Given the description of an element on the screen output the (x, y) to click on. 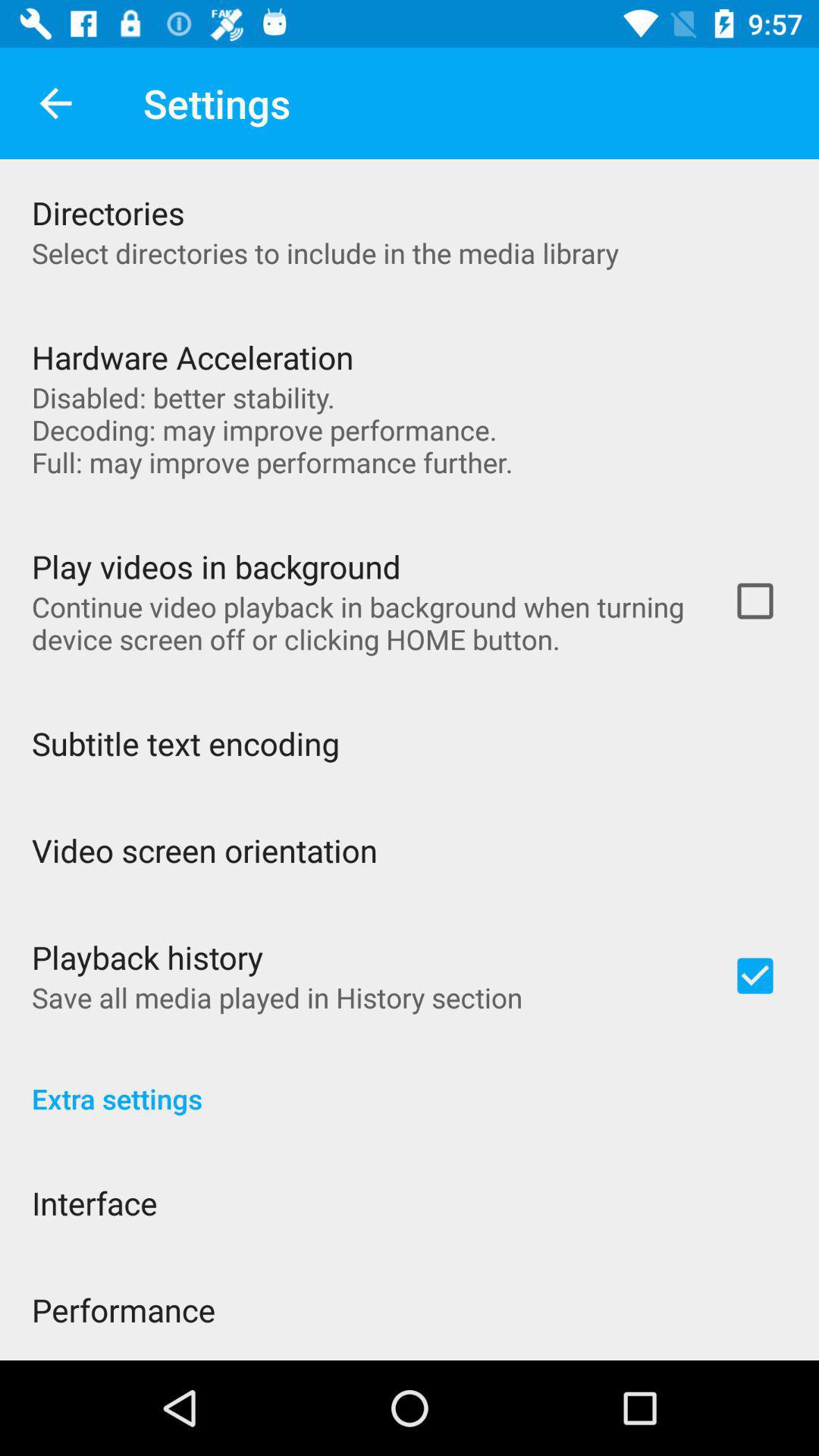
click icon below save all media (409, 1082)
